Given the description of an element on the screen output the (x, y) to click on. 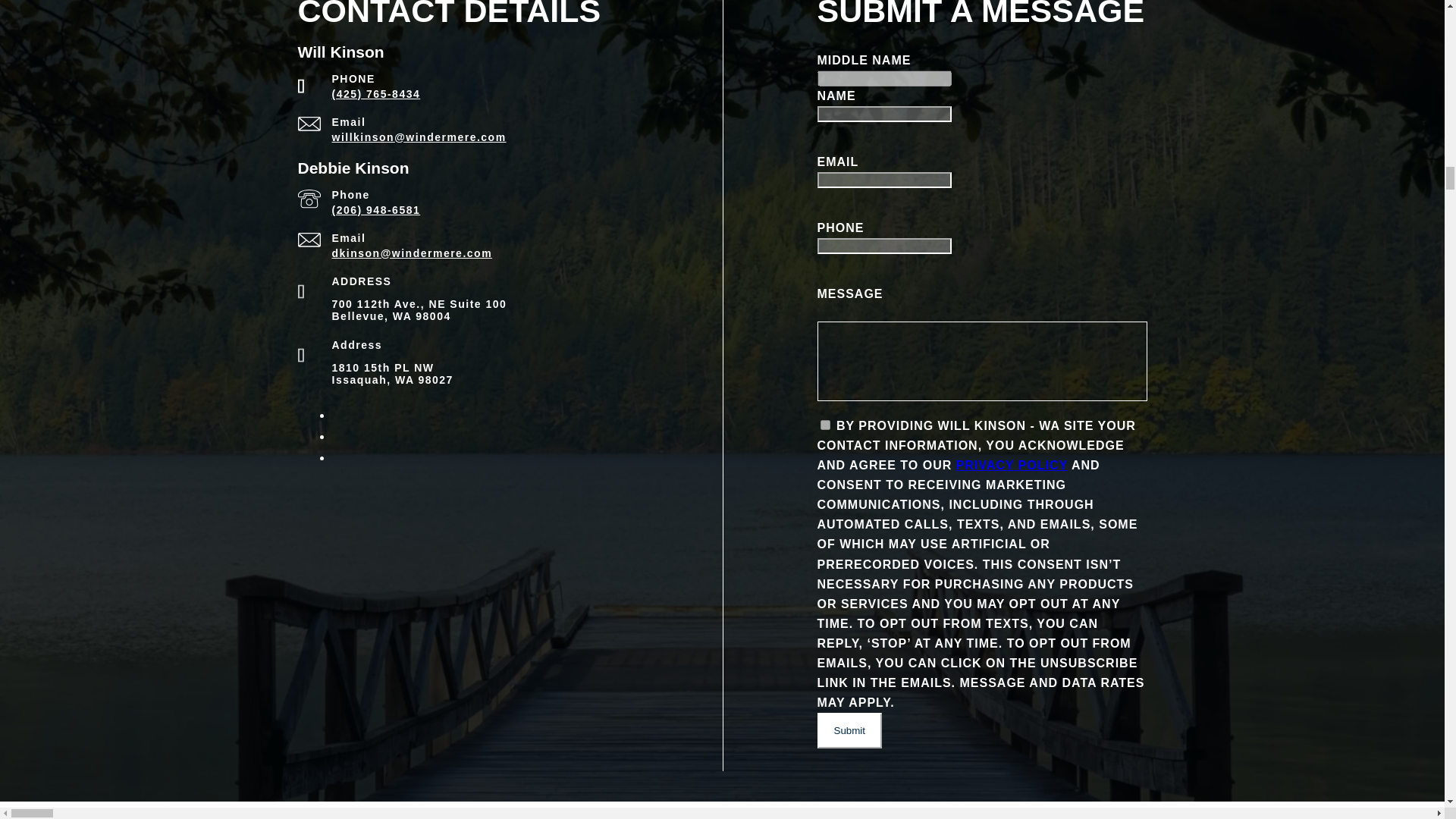
on (825, 424)
